Given the description of an element on the screen output the (x, y) to click on. 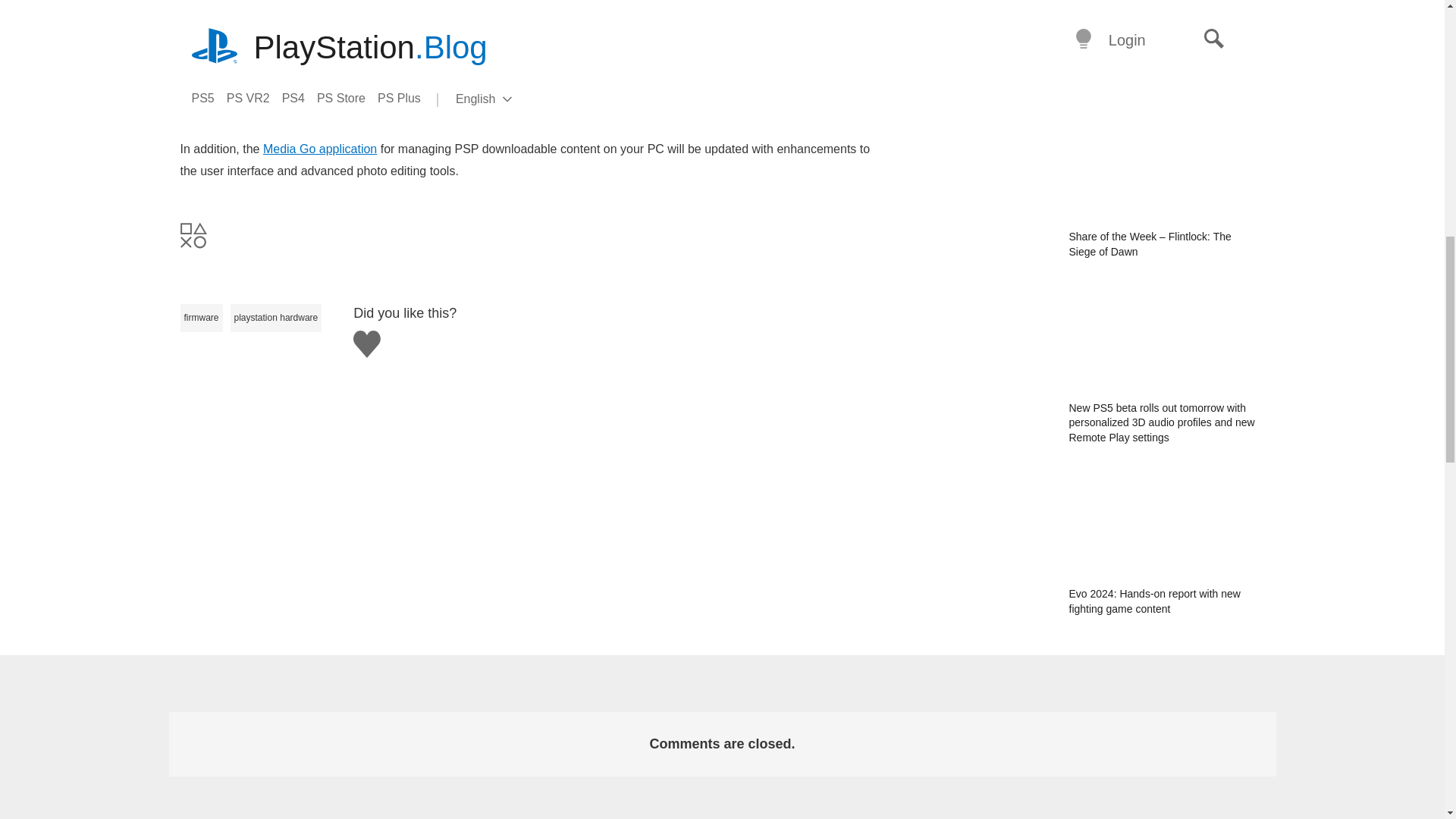
Like this (366, 343)
